Given the description of an element on the screen output the (x, y) to click on. 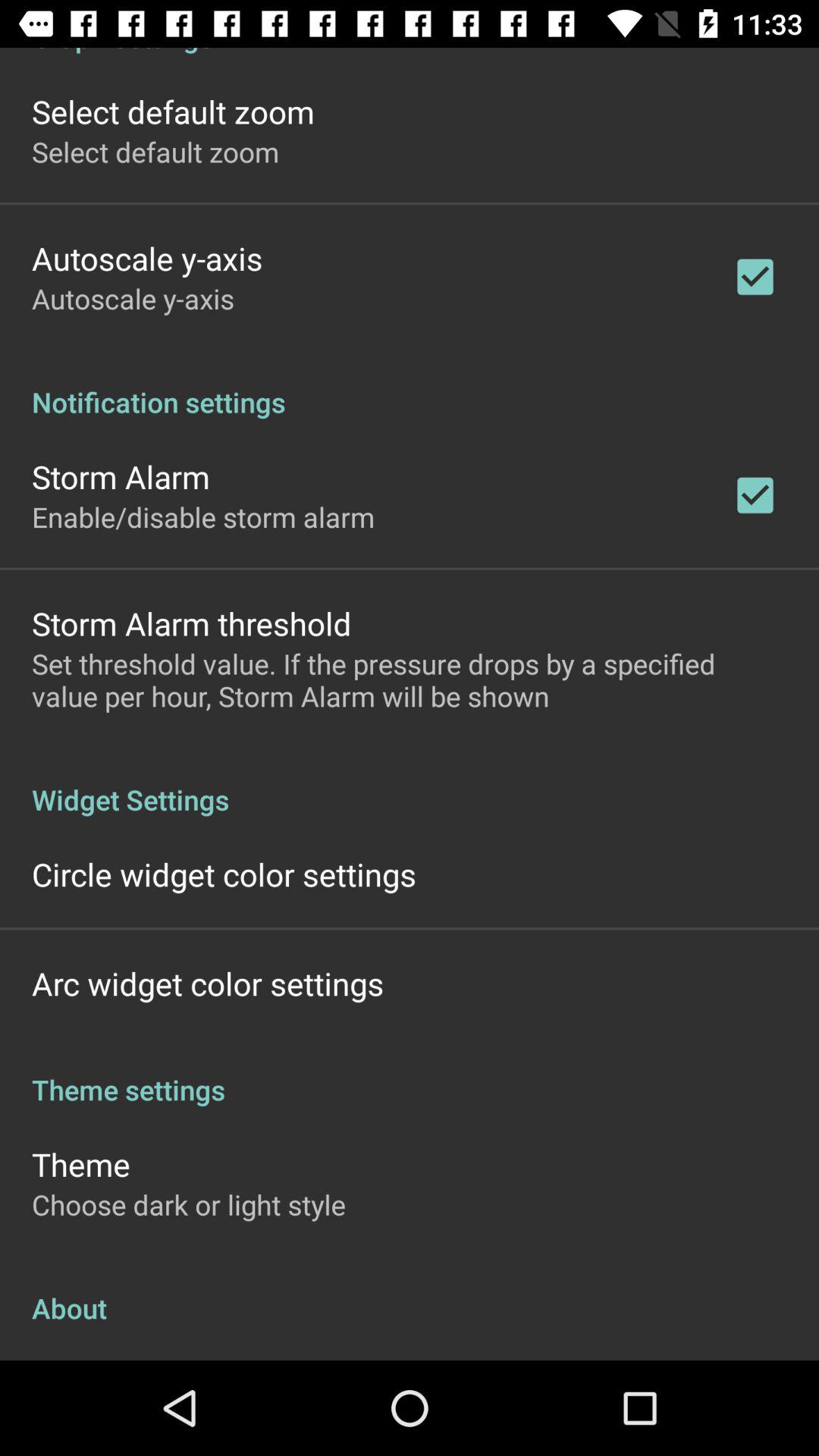
press icon above the widget settings item (409, 679)
